Given the description of an element on the screen output the (x, y) to click on. 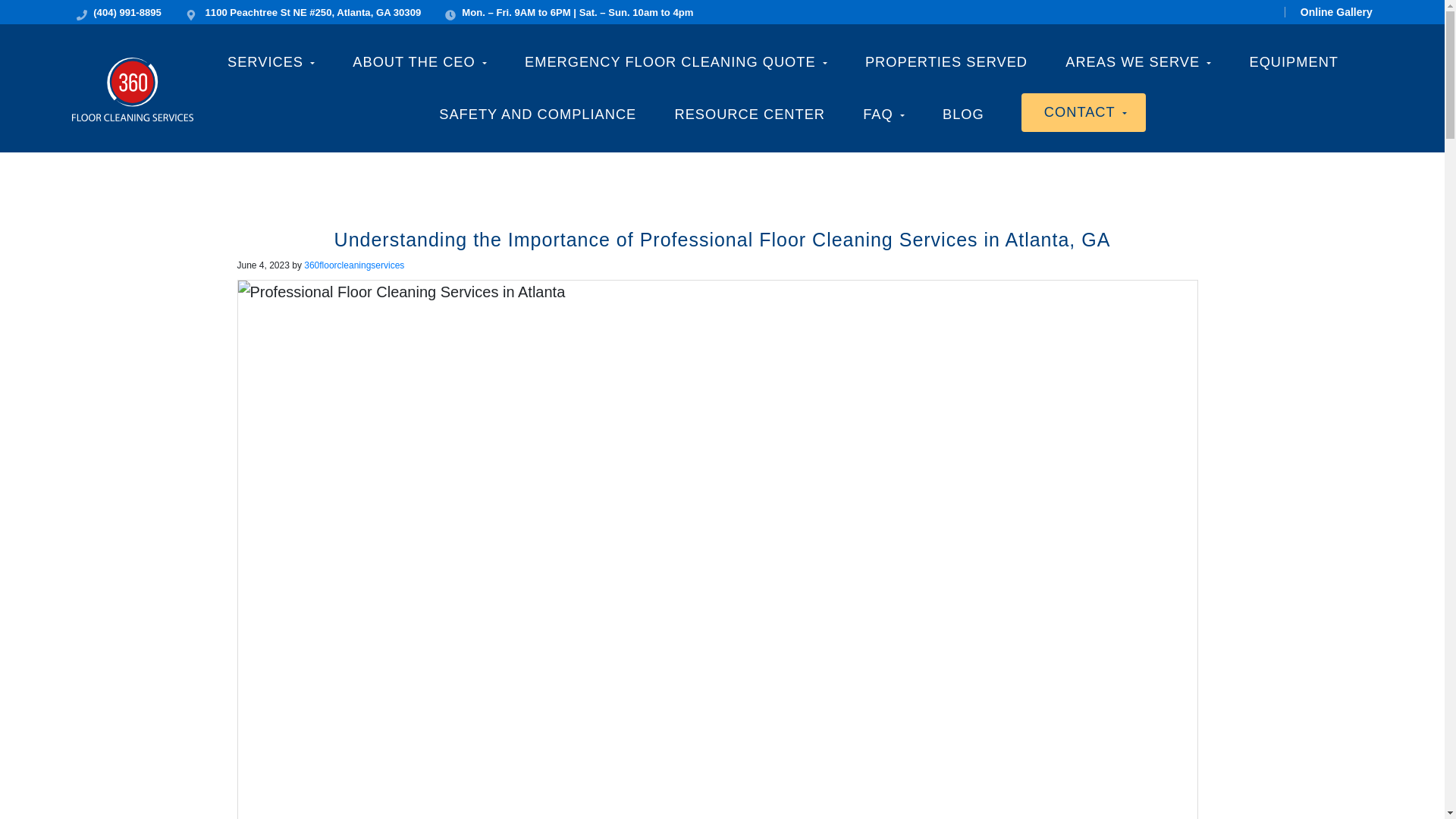
360 Floor Cleaning Services (152, 124)
Online Gallery (1328, 11)
ABOUT THE CEO (419, 61)
EMERGENCY FLOOR CLEANING QUOTE (675, 61)
SERVICES (270, 61)
